Given the description of an element on the screen output the (x, y) to click on. 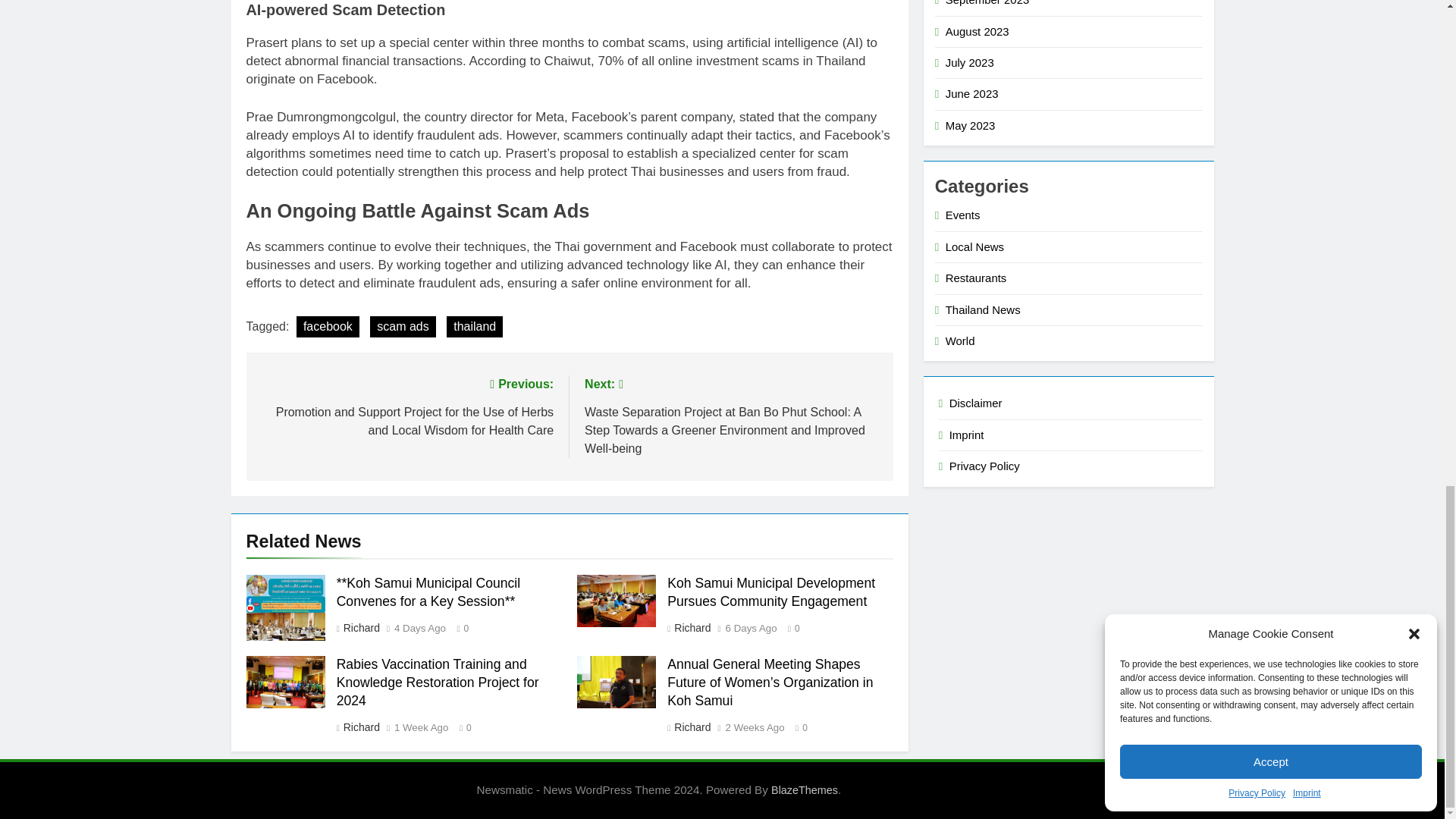
scam ads (402, 326)
thailand (474, 326)
facebook (328, 326)
